Given the description of an element on the screen output the (x, y) to click on. 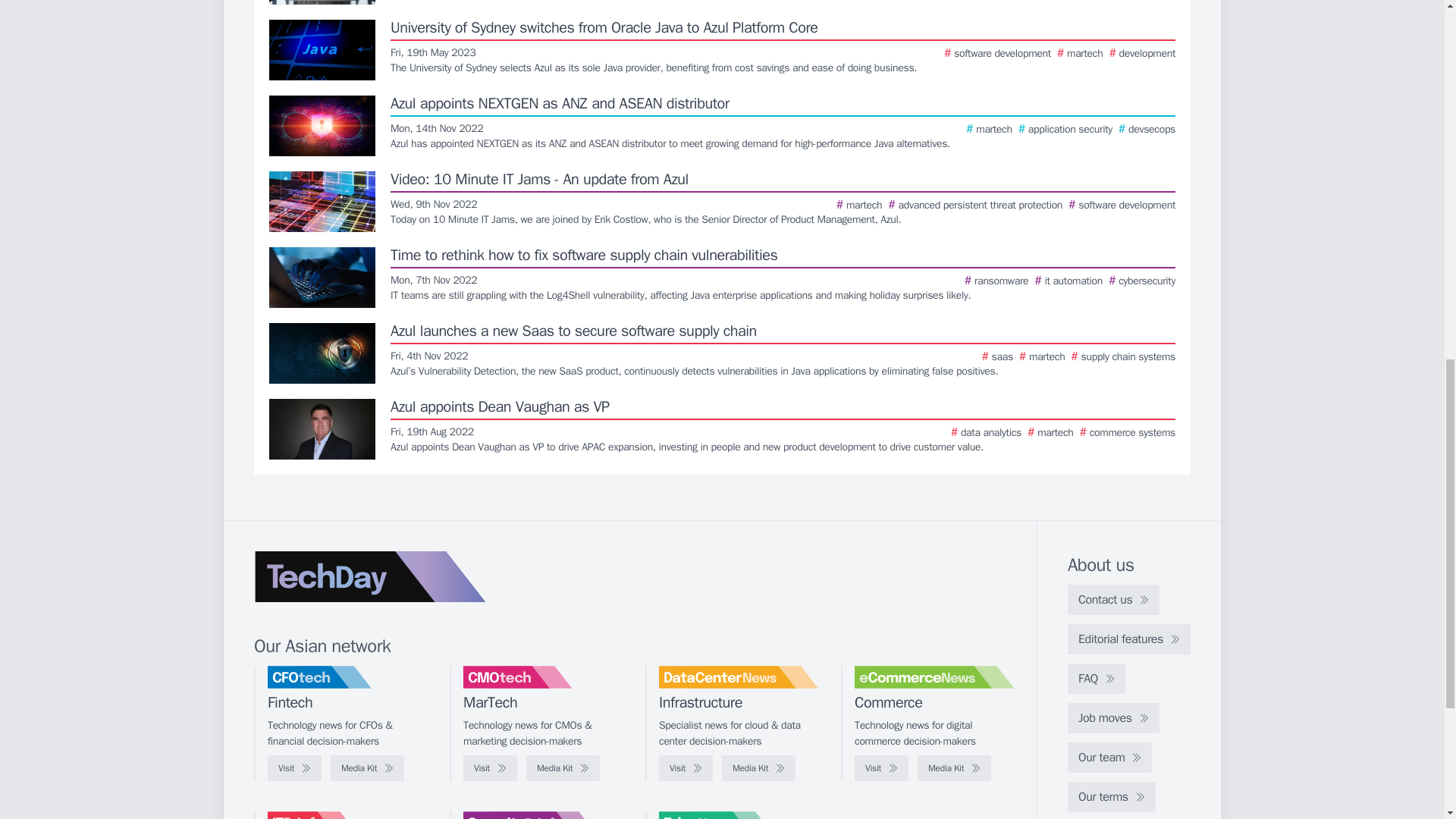
Visit (686, 768)
Media Kit (367, 768)
Visit (881, 768)
Visit (489, 768)
Visit (294, 768)
Media Kit (758, 768)
Media Kit (954, 768)
Media Kit (562, 768)
